Given the description of an element on the screen output the (x, y) to click on. 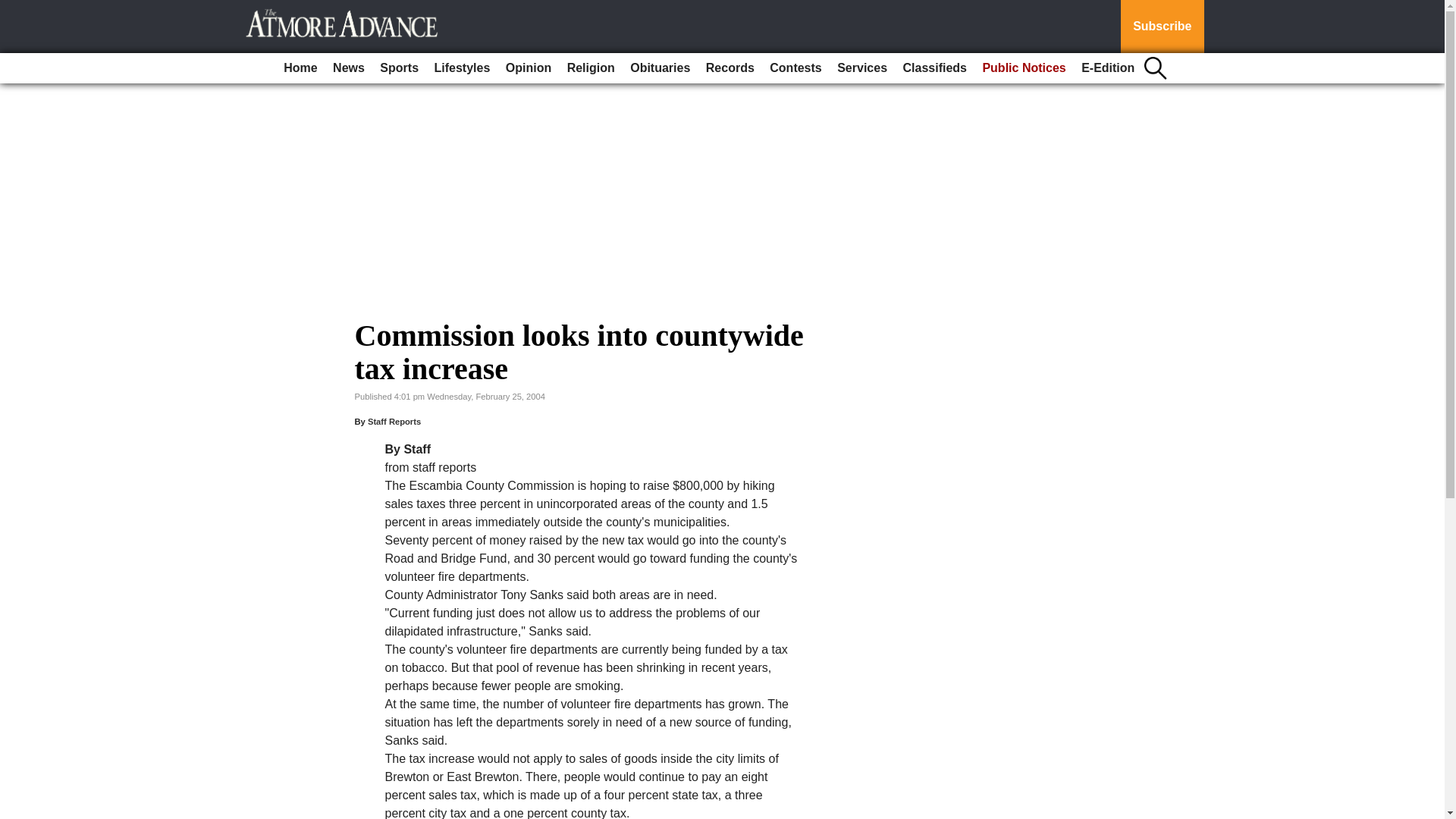
Sports (399, 68)
Classifieds (934, 68)
Records (730, 68)
Subscribe (1162, 26)
E-Edition (1107, 68)
News (348, 68)
Religion (590, 68)
Contests (794, 68)
Staff Reports (394, 420)
Lifestyles (462, 68)
